Given the description of an element on the screen output the (x, y) to click on. 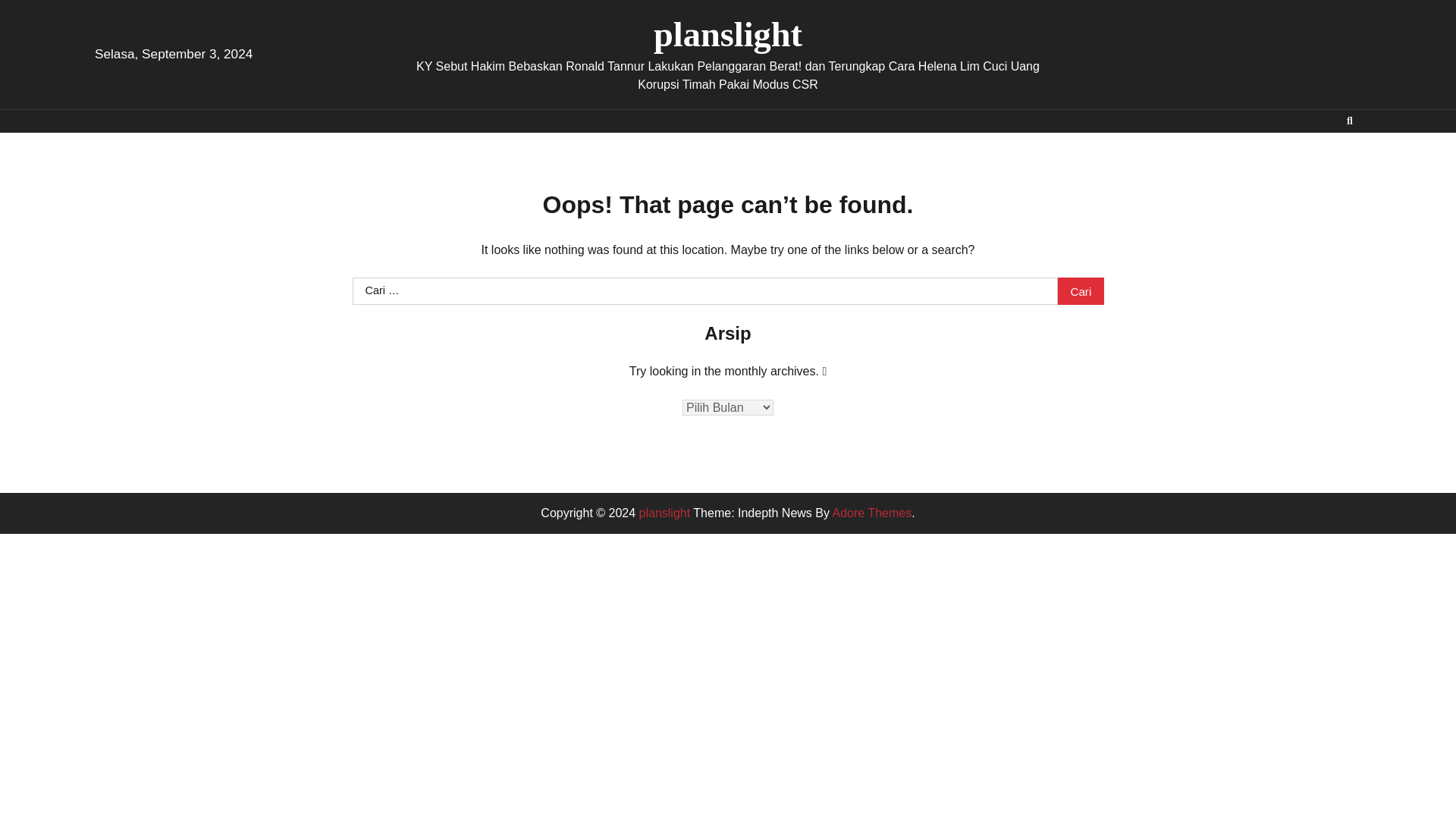
planslight (664, 512)
Cari (1322, 156)
Adore Themes (872, 512)
Cari (1080, 290)
Cari (1080, 290)
planslight (727, 34)
Cari (1080, 290)
Search (1349, 120)
